Given the description of an element on the screen output the (x, y) to click on. 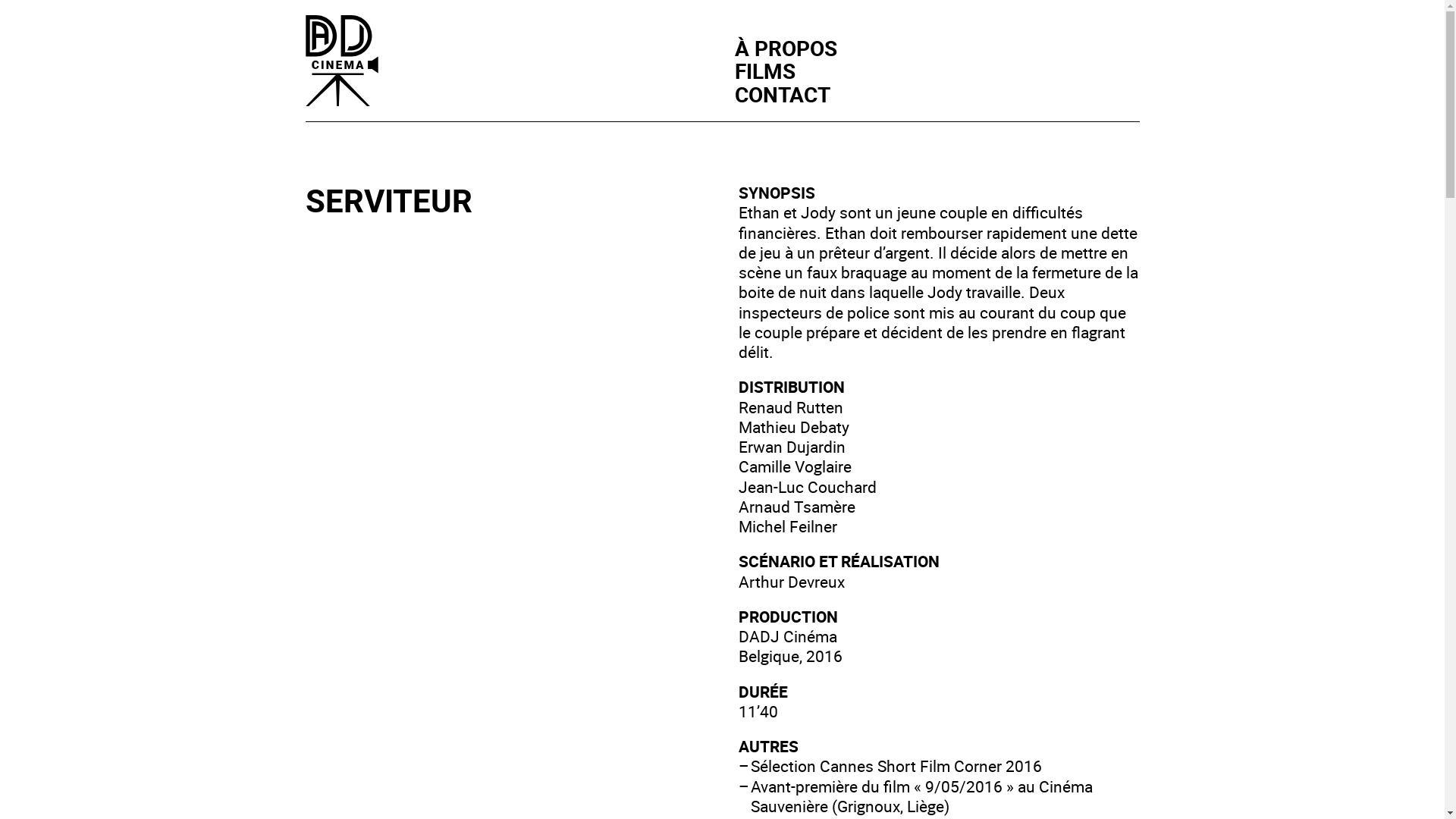
FILMS Element type: text (764, 70)
CONTACT Element type: text (781, 93)
